Given the description of an element on the screen output the (x, y) to click on. 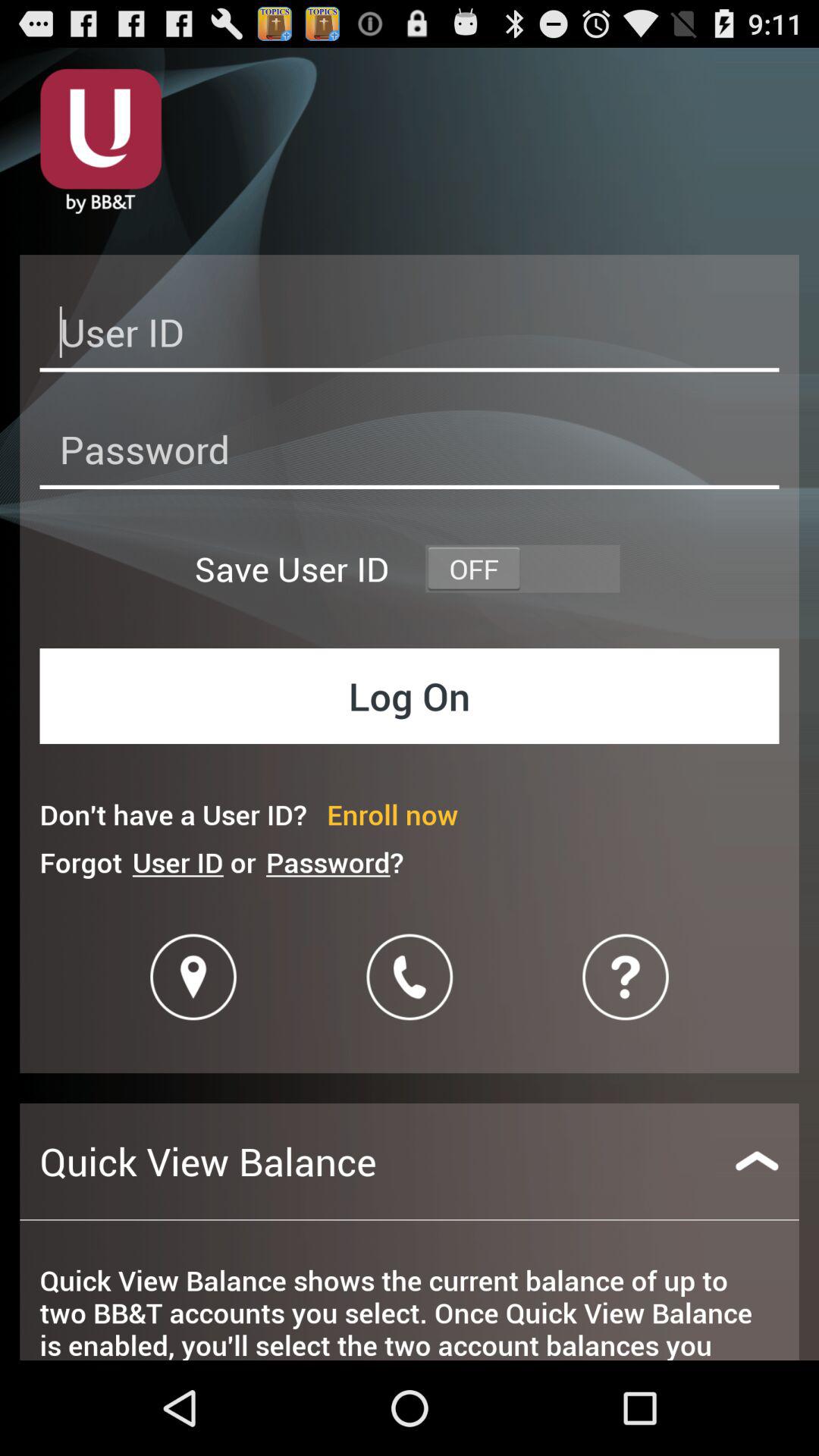
click the item to the right of don t have icon (392, 814)
